Given the description of an element on the screen output the (x, y) to click on. 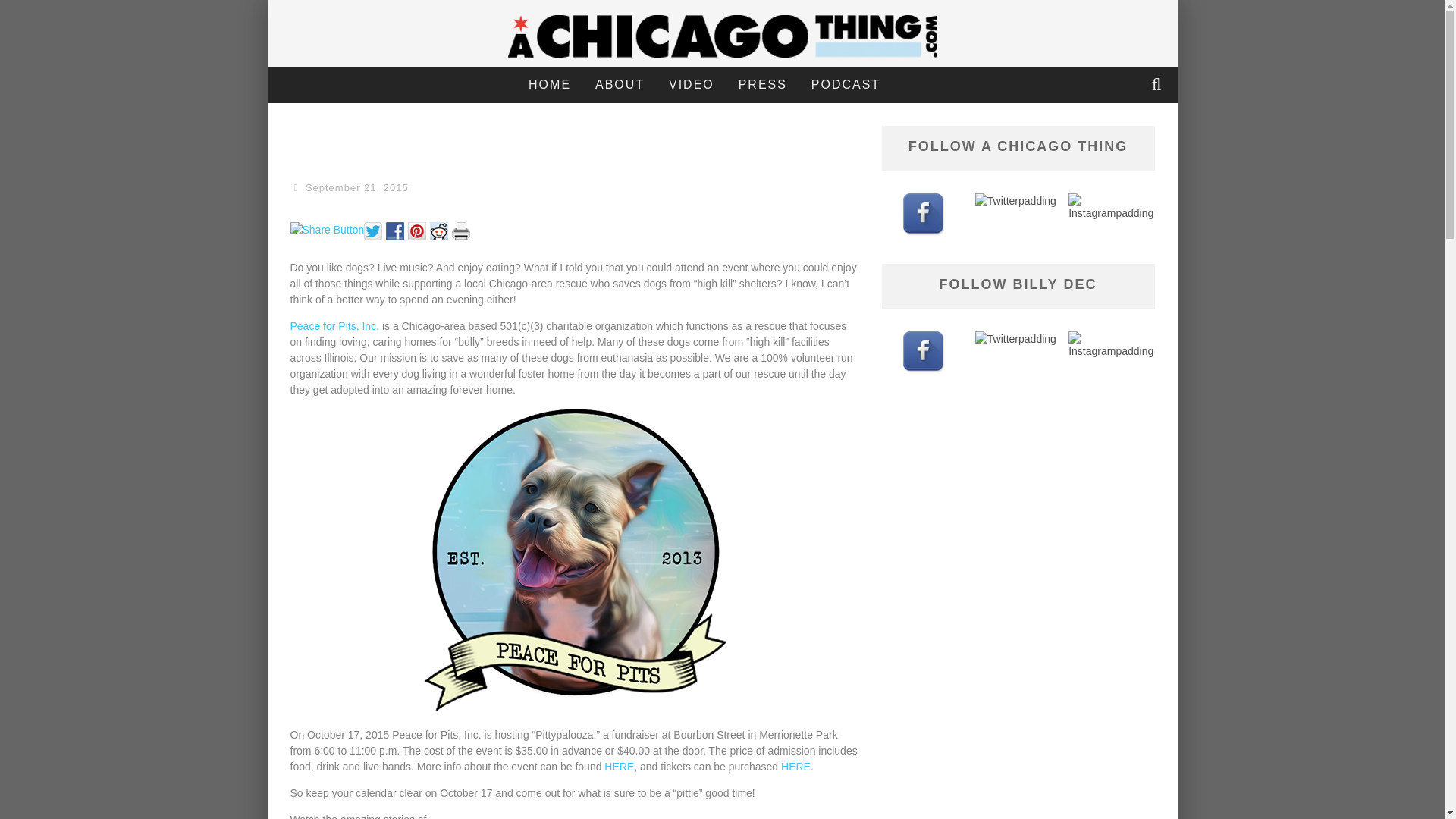
ABOUT (619, 84)
Print (462, 229)
PRESS (761, 84)
Facebook (396, 229)
Search (1158, 84)
HERE (618, 766)
HERE (795, 766)
VIDEO (691, 84)
Pinterest (418, 229)
Reddit (440, 229)
